Given the description of an element on the screen output the (x, y) to click on. 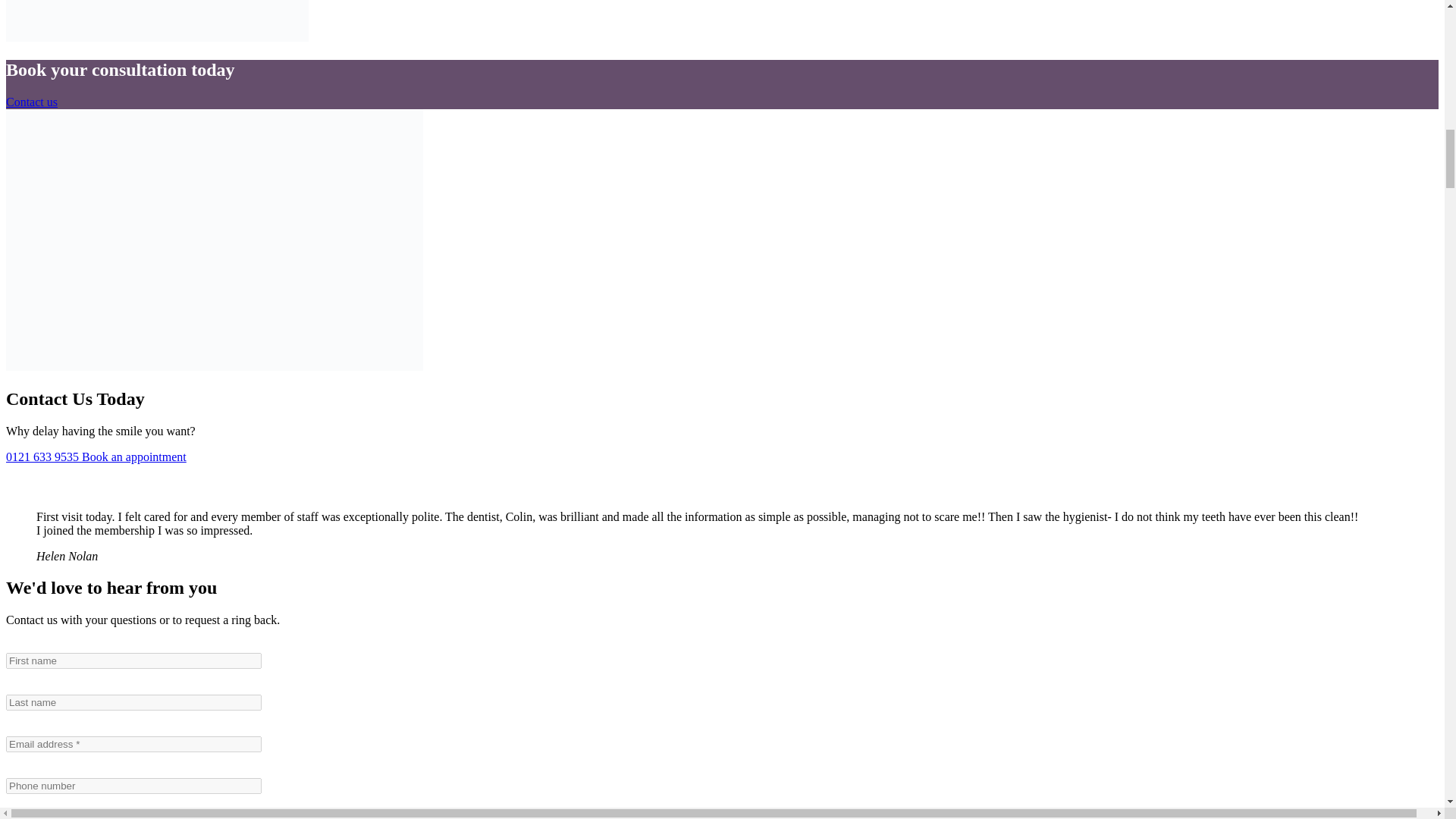
Contact us (31, 101)
Book an appointment (133, 456)
0121 633 9535 (43, 456)
